Given the description of an element on the screen output the (x, y) to click on. 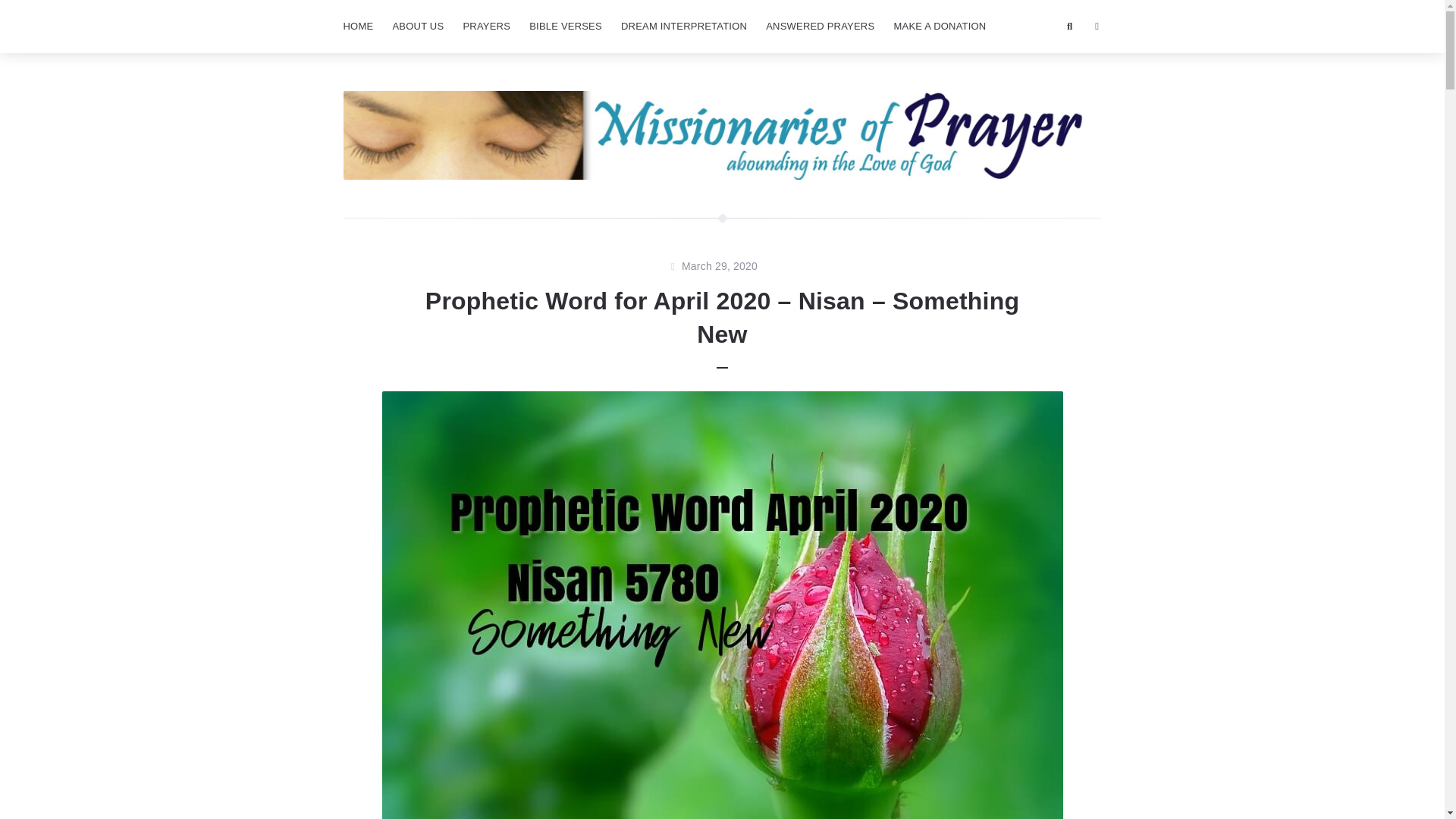
BIBLE VERSES (565, 26)
ABOUT US (417, 26)
MAKE A DONATION (938, 26)
DREAM INTERPRETATION (683, 26)
ANSWERED PRAYERS (820, 26)
PRAYERS (485, 26)
HOME (357, 26)
